Given the description of an element on the screen output the (x, y) to click on. 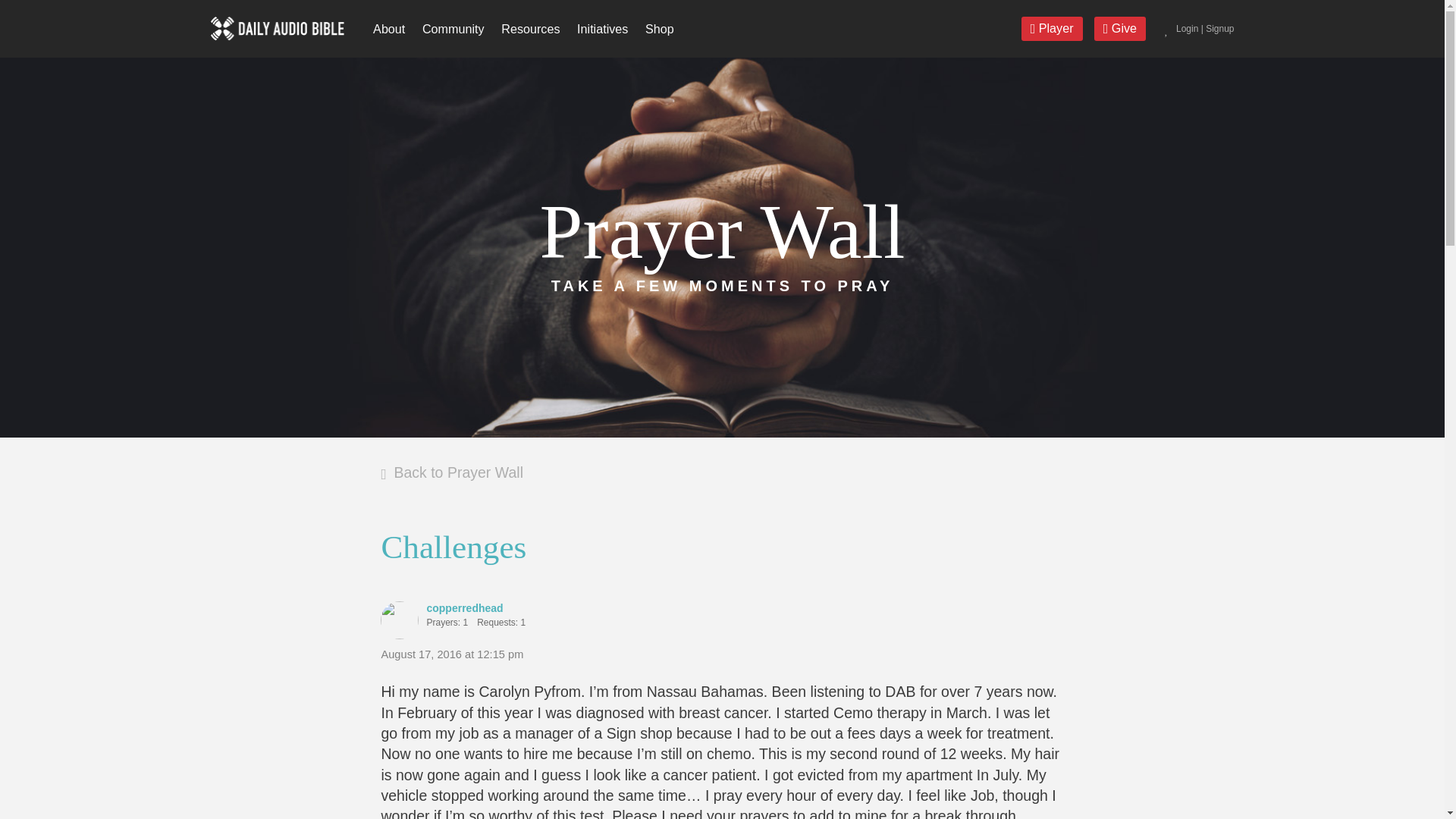
Community (453, 28)
Player (1052, 28)
Give (1120, 28)
Initiatives (603, 28)
About (389, 28)
Shop (659, 28)
Resources (531, 28)
Daily Audio Bible (277, 27)
